Given the description of an element on the screen output the (x, y) to click on. 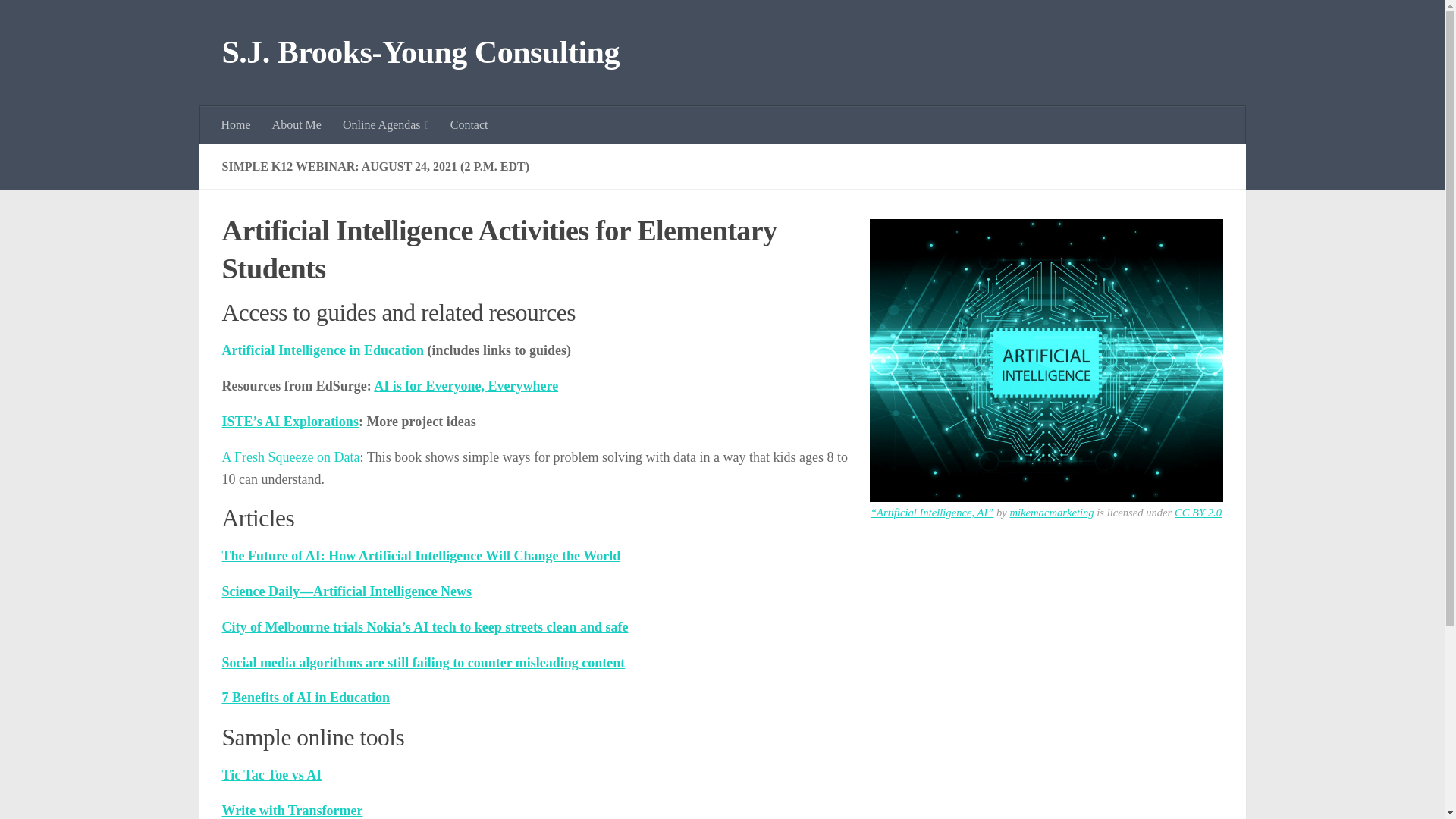
7 Benefits of AI in Education (305, 697)
Skip to content (59, 20)
mikemacmarketing (1051, 512)
S.J. Brooks-Young Consulting (419, 53)
Contact (469, 125)
A Fresh Squeeze on Data (290, 457)
Tic Tac Toe vs AI (271, 774)
Write with Transformer (291, 810)
Artificial Intelligence in Education (322, 350)
